Given the description of an element on the screen output the (x, y) to click on. 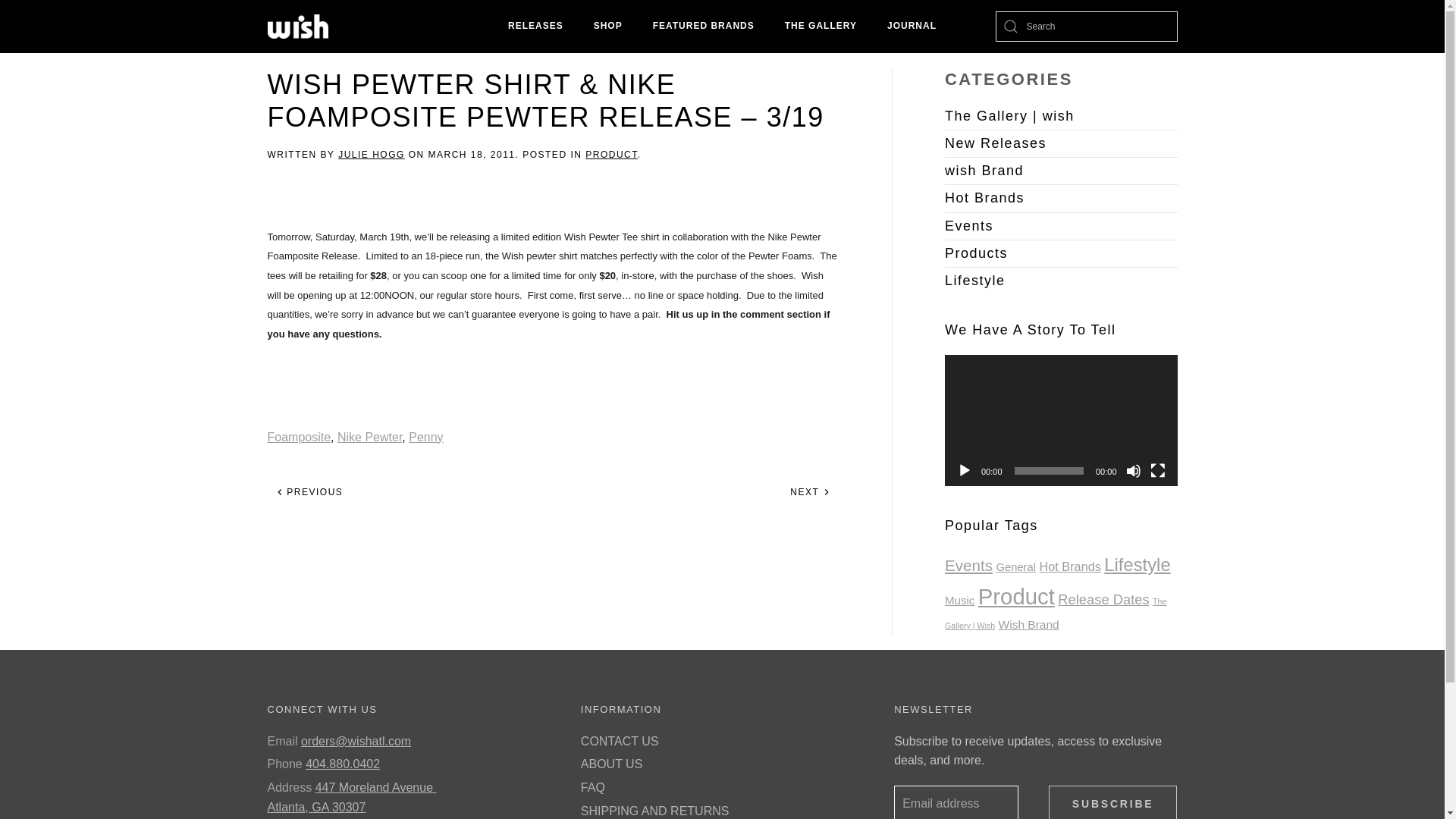
Penny (425, 436)
Fullscreen (1157, 470)
Events (1060, 226)
Mute (1132, 470)
wish Brand (1060, 170)
Music (959, 599)
Lifestyle (1136, 564)
New Releases (1060, 143)
Products (1060, 253)
Nike Pewter (369, 436)
